Given the description of an element on the screen output the (x, y) to click on. 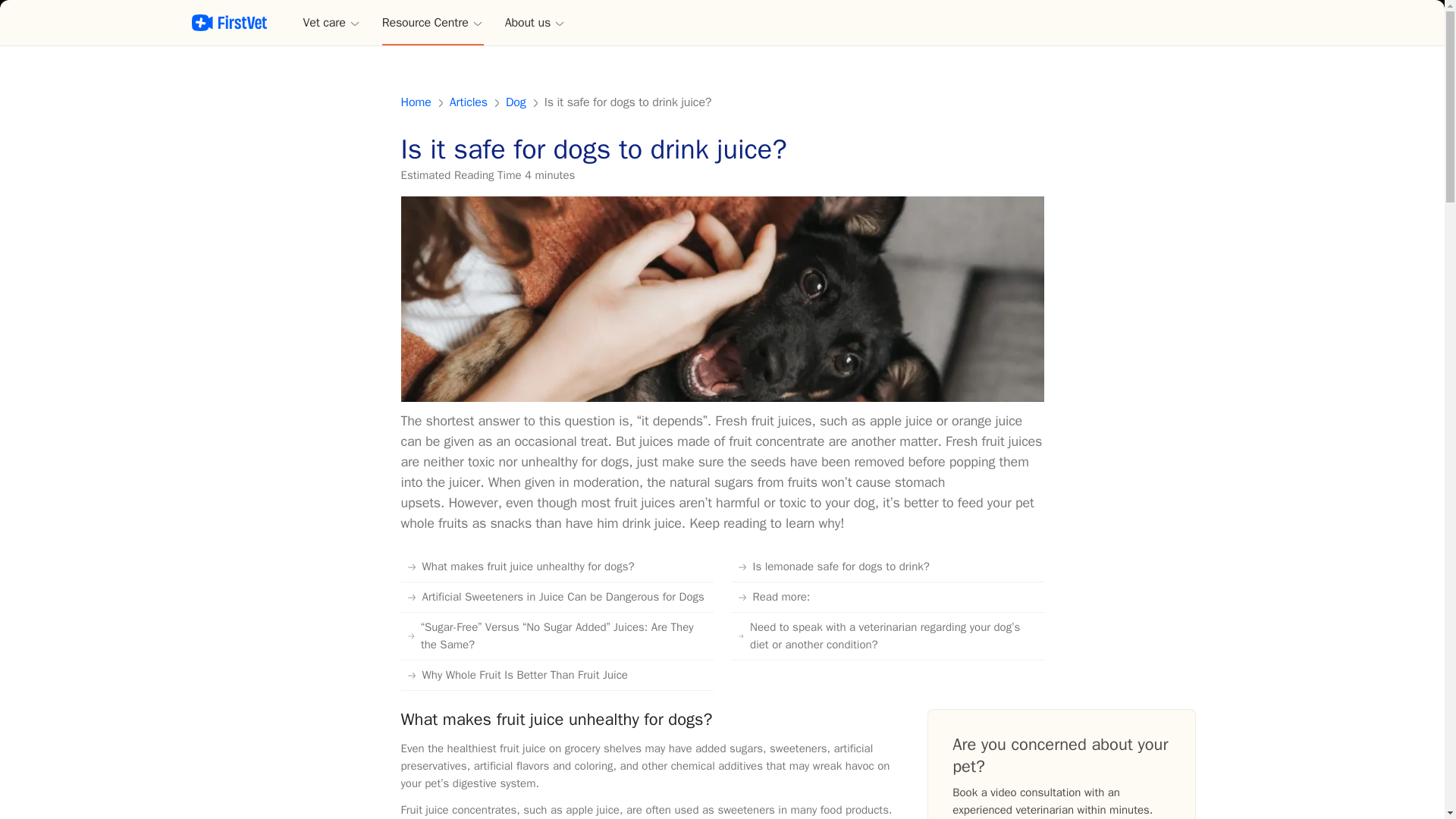
Dog (515, 102)
Read more: (886, 597)
Artificial Sweeteners in Juice Can be Dangerous for Dogs (556, 597)
Is lemonade safe for dogs to drink? (886, 567)
About us (535, 22)
Home (415, 102)
What makes fruit juice unhealthy for dogs? (556, 567)
Articles (468, 102)
Resource Centre (432, 22)
Why Whole Fruit Is Better Than Fruit Juice (556, 675)
Vet care (331, 22)
